Given the description of an element on the screen output the (x, y) to click on. 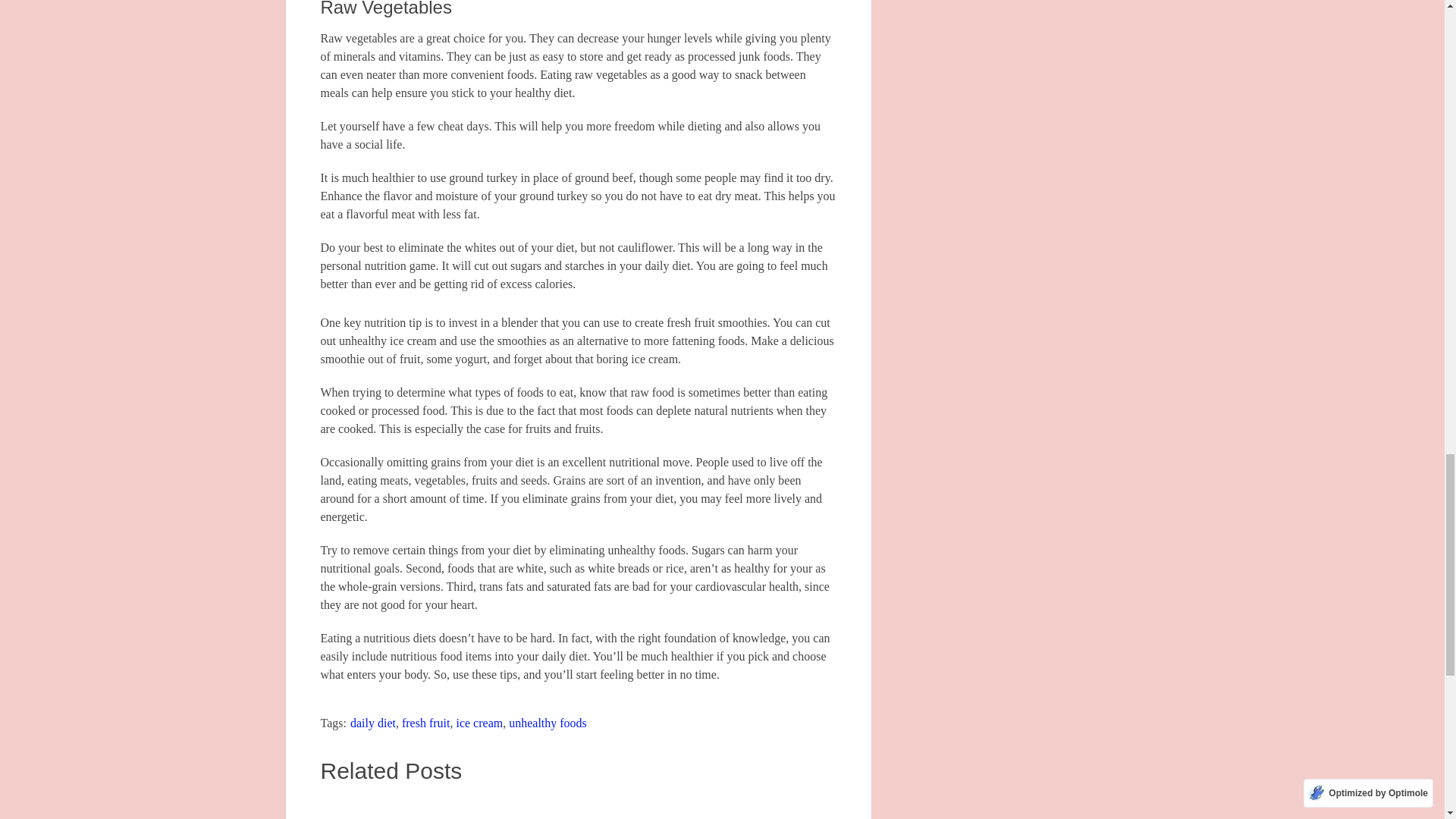
fresh fruit (425, 722)
Learn All You Can About What You Eat (577, 807)
daily diet (373, 722)
Giving Your Body What It Needs: Tips For A Nutritional Diet (756, 807)
unhealthy foods (547, 722)
Fill Up With Nutrition Using Great Advice (399, 807)
ice cream (478, 722)
